Given the description of an element on the screen output the (x, y) to click on. 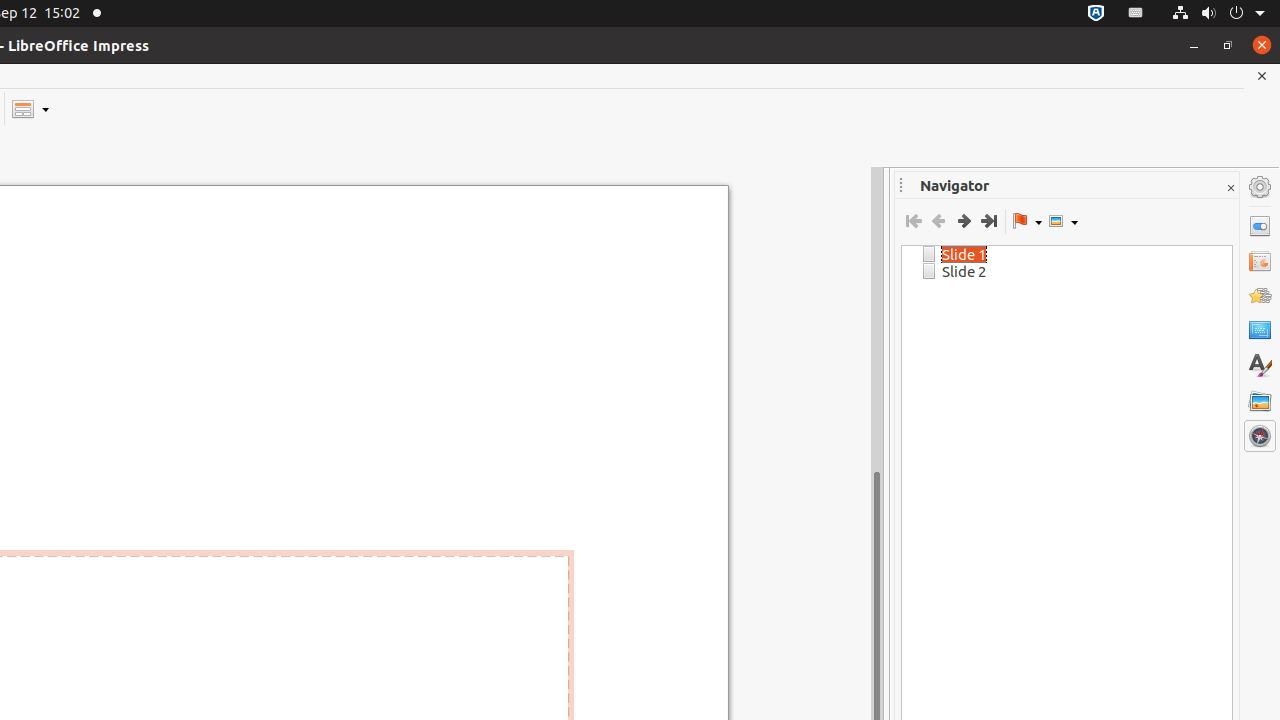
Show Shapes Element type: push-button (1063, 221)
Master Slides Element type: radio-button (1260, 331)
Navigator Element type: radio-button (1260, 436)
:1.21/StatusNotifierItem Element type: menu (1136, 13)
Next Slide Element type: push-button (963, 221)
